Given the description of an element on the screen output the (x, y) to click on. 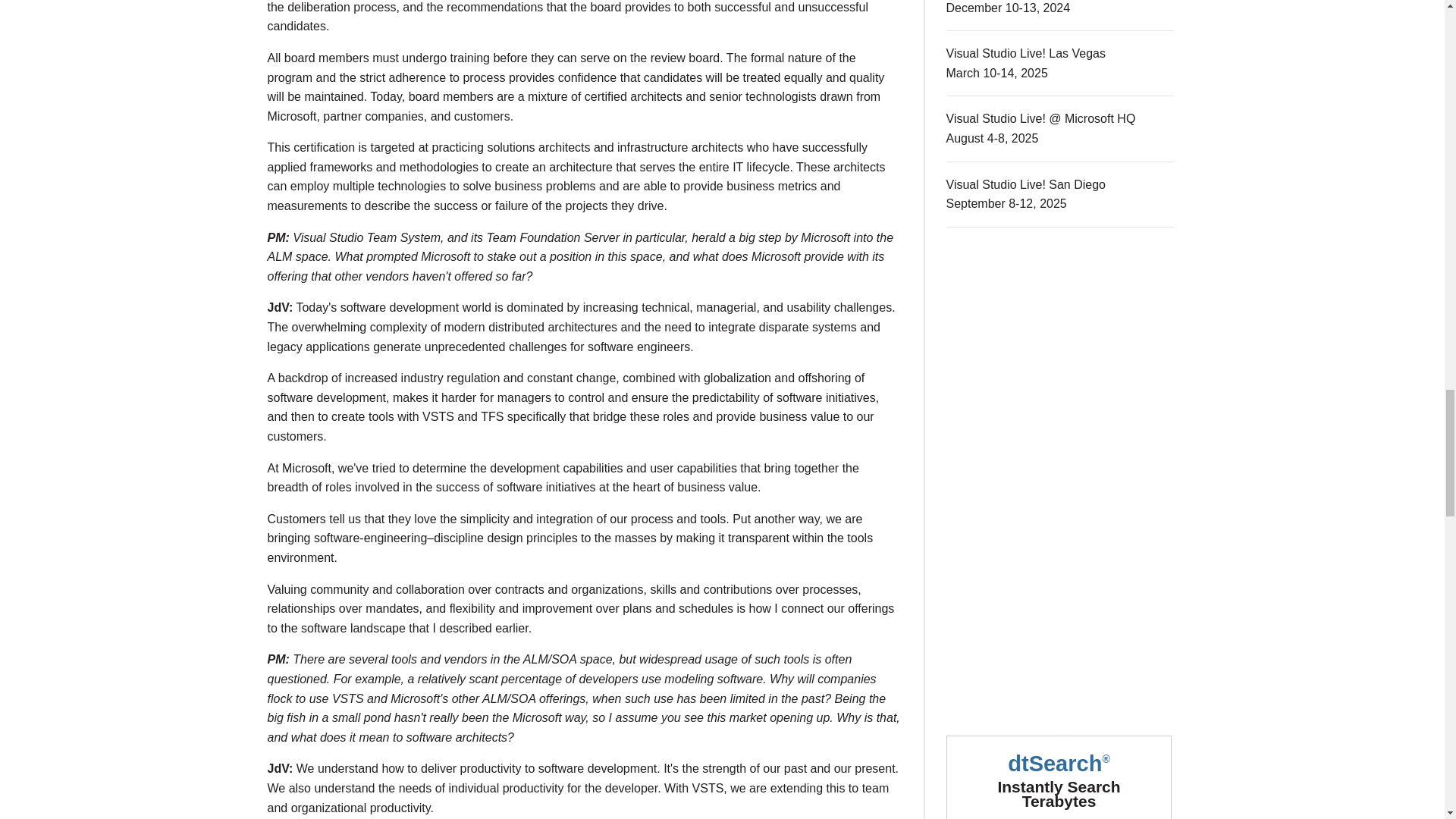
3rd party ad content (1059, 769)
3rd party ad content (1059, 587)
3rd party ad content (1059, 360)
